Given the description of an element on the screen output the (x, y) to click on. 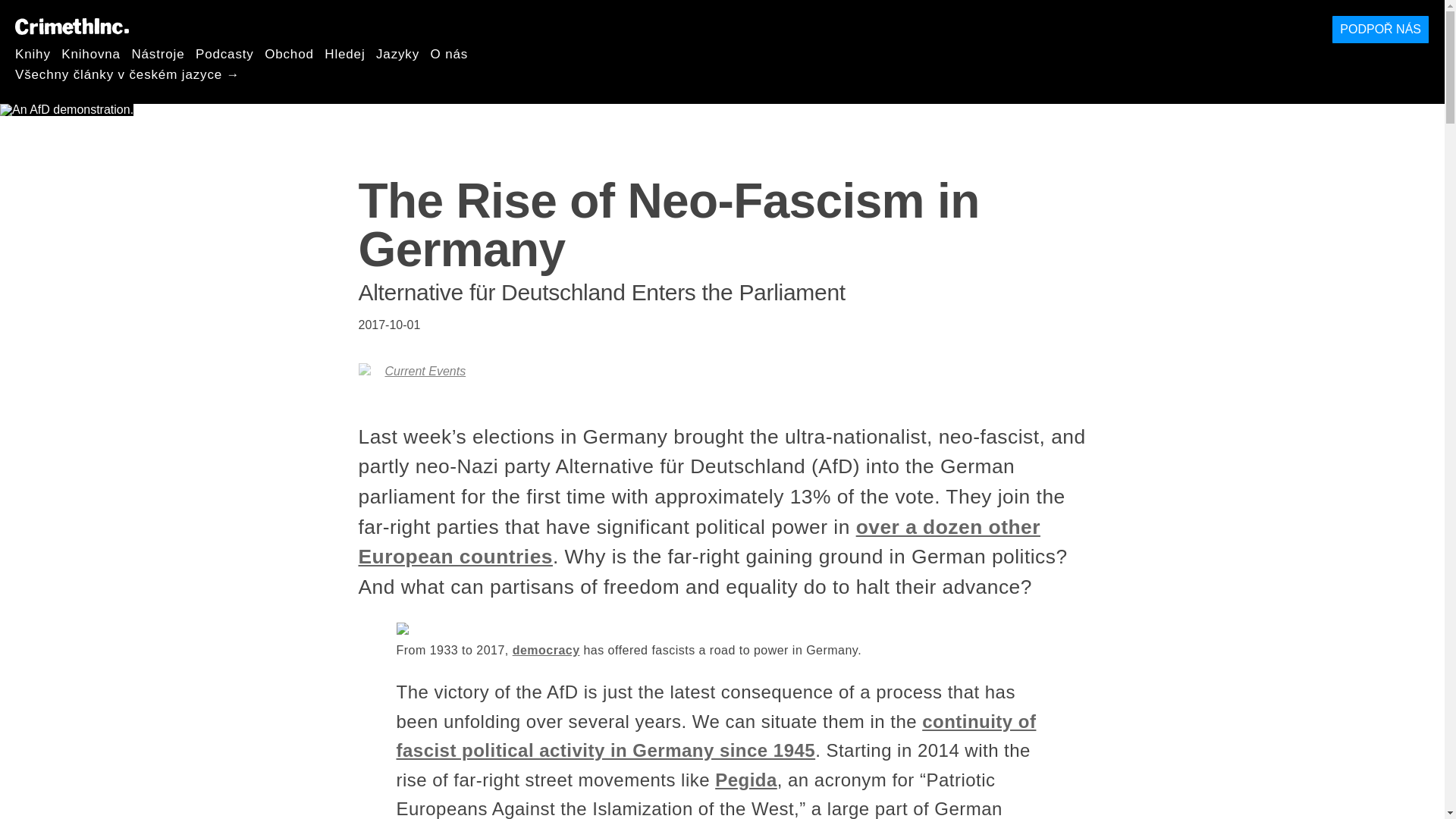
Podcasty (224, 53)
over a dozen other European countries (698, 541)
CrimethInc. (71, 26)
Knihy (32, 53)
Jazyky (397, 53)
Knihovna (90, 53)
democracy (545, 649)
Pegida (745, 779)
Current Events (424, 370)
Obchod (289, 53)
Hledej (344, 53)
